Given the description of an element on the screen output the (x, y) to click on. 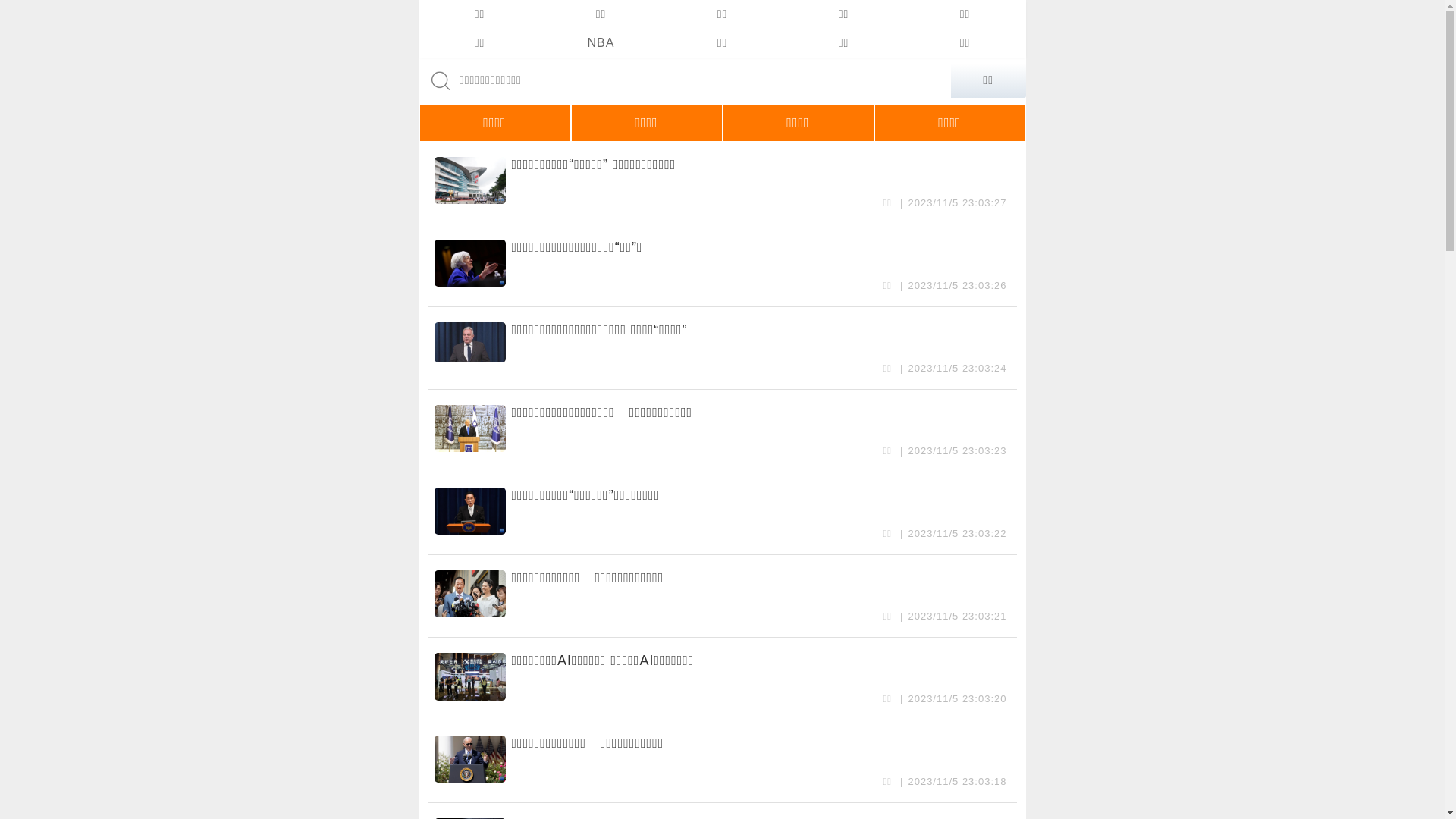
NBA Element type: text (600, 42)
